Given the description of an element on the screen output the (x, y) to click on. 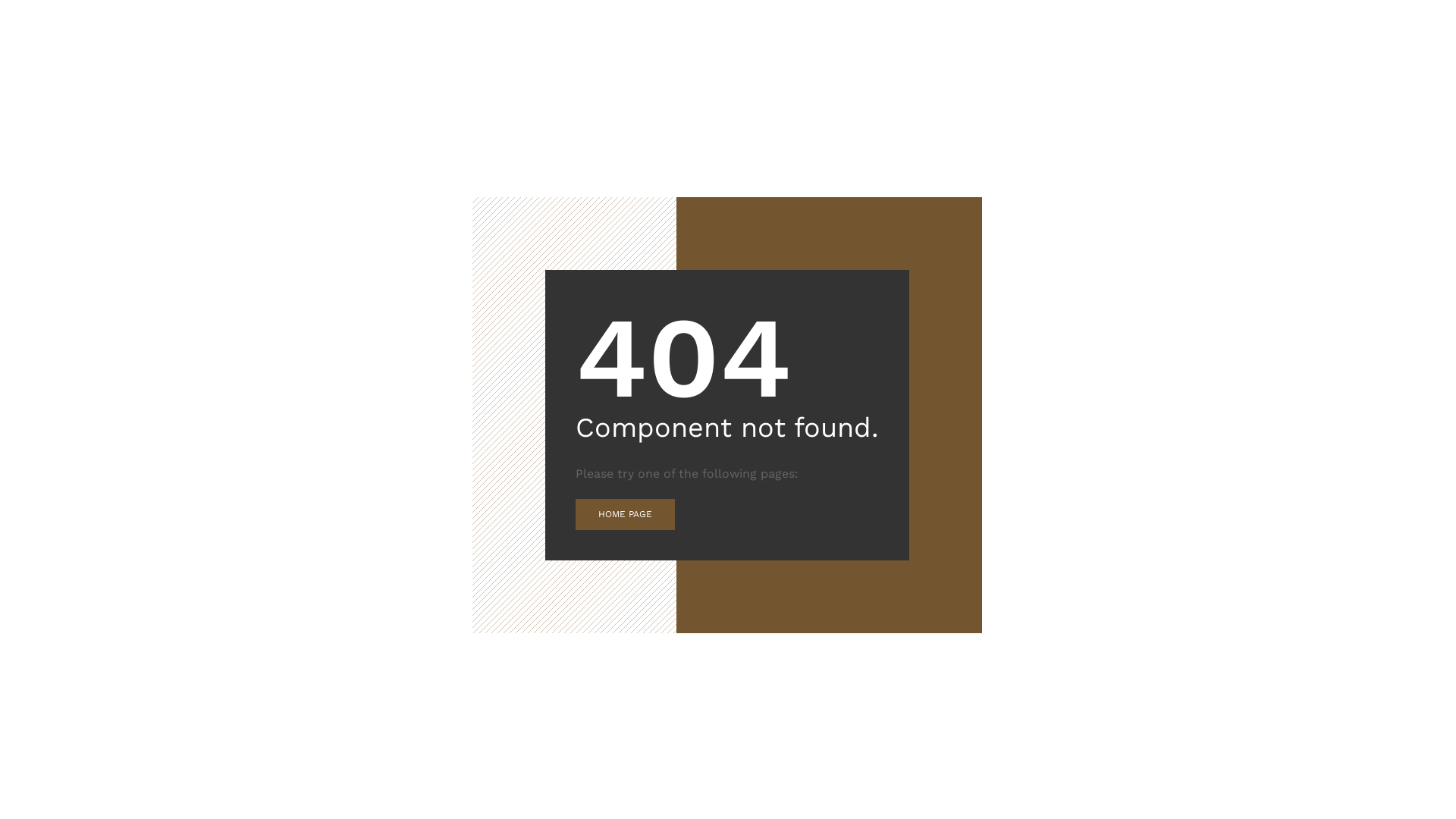
HOME PAGE Element type: text (624, 514)
